Given the description of an element on the screen output the (x, y) to click on. 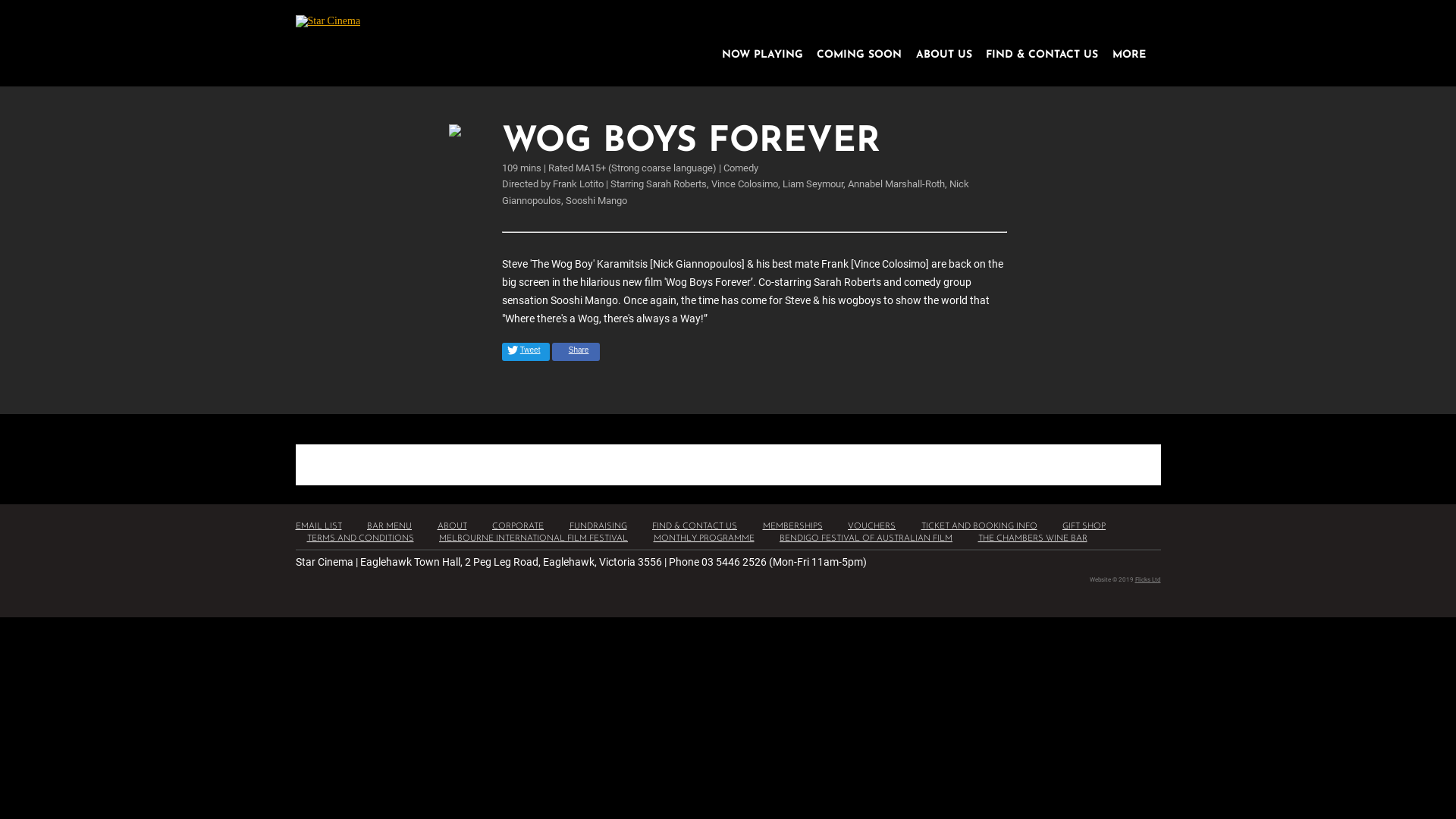
FIND & CONTACT US Element type: text (694, 526)
TICKET AND BOOKING INFO Element type: text (978, 526)
CORPORATE Element type: text (517, 526)
EMAIL LIST Element type: text (318, 526)
THE CHAMBERS WINE BAR Element type: text (1032, 538)
MEMBERSHIPS Element type: text (792, 526)
VOUCHERS Element type: text (871, 526)
BENDIGO FESTIVAL OF AUSTRALIAN FILM Element type: text (865, 538)
Tweet Element type: text (525, 351)
BAR MENU Element type: text (389, 526)
ABOUT US Element type: text (944, 54)
Flicks Ltd Element type: text (1147, 579)
Share Element type: text (575, 351)
MONTHLY PROGRAMME Element type: text (703, 538)
ABOUT Element type: text (451, 526)
NOW PLAYING Element type: text (762, 54)
COMING SOON Element type: text (858, 54)
TERMS AND CONDITIONS Element type: text (359, 538)
MORE Element type: text (1128, 54)
FUNDRAISING Element type: text (597, 526)
MELBOURNE INTERNATIONAL FILM FESTIVAL Element type: text (533, 538)
FIND & CONTACT US Element type: text (1041, 54)
GIFT SHOP Element type: text (1083, 526)
